Given the description of an element on the screen output the (x, y) to click on. 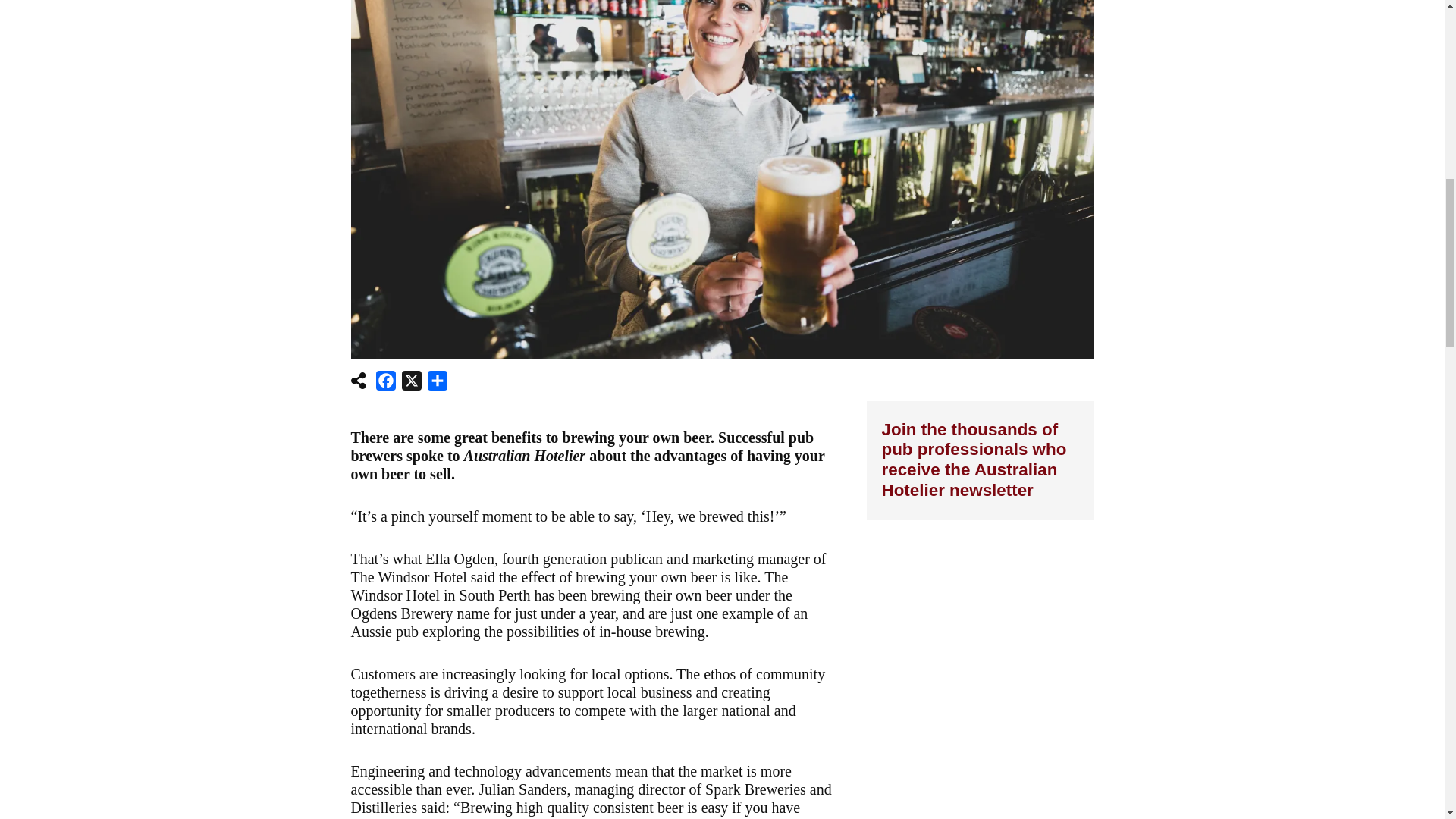
X (411, 383)
Facebook (385, 383)
3rd party ad content (979, 692)
